Given the description of an element on the screen output the (x, y) to click on. 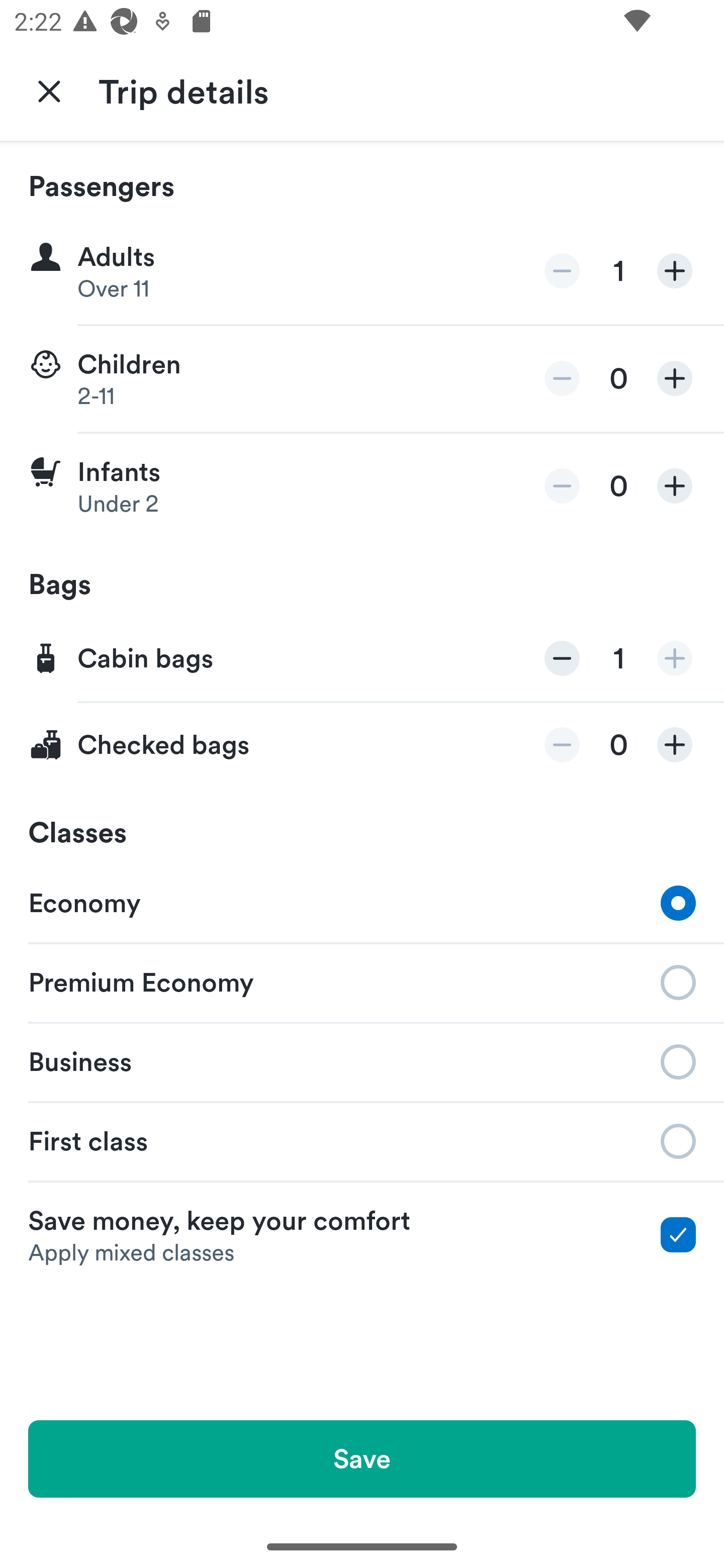
Navigate up (49, 90)
Remove 1 Add Adults Over 11 (362, 271)
Remove (561, 270)
Add (674, 270)
Remove 0 Add Children 2-11 (362, 379)
Remove (561, 377)
Add (674, 377)
Remove 0 Add Infants Under 2 (362, 485)
Remove (561, 485)
Add (674, 485)
Remove 1 Add Cabin bags (362, 659)
Remove (561, 658)
Add (674, 658)
Remove 0 Add Checked bags (362, 744)
Remove (561, 744)
Add (674, 744)
Premium Economy (362, 980)
Business (362, 1060)
First class (362, 1141)
Save (361, 1458)
